Given the description of an element on the screen output the (x, y) to click on. 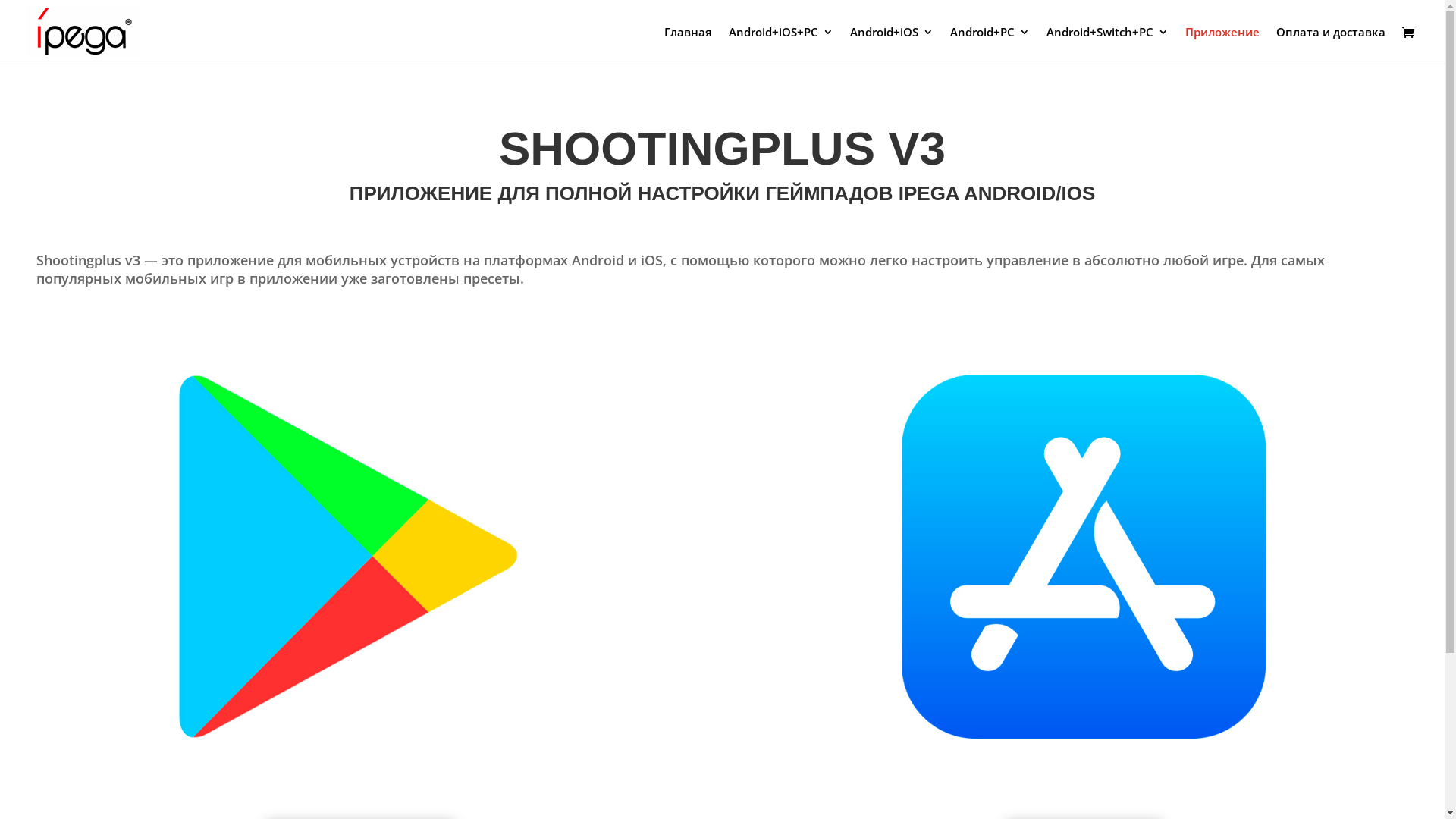
Android+iOS Element type: text (891, 44)
Android+PC Element type: text (989, 44)
Android+Switch+PC Element type: text (1107, 44)
Android+iOS+PC Element type: text (780, 44)
